Given the description of an element on the screen output the (x, y) to click on. 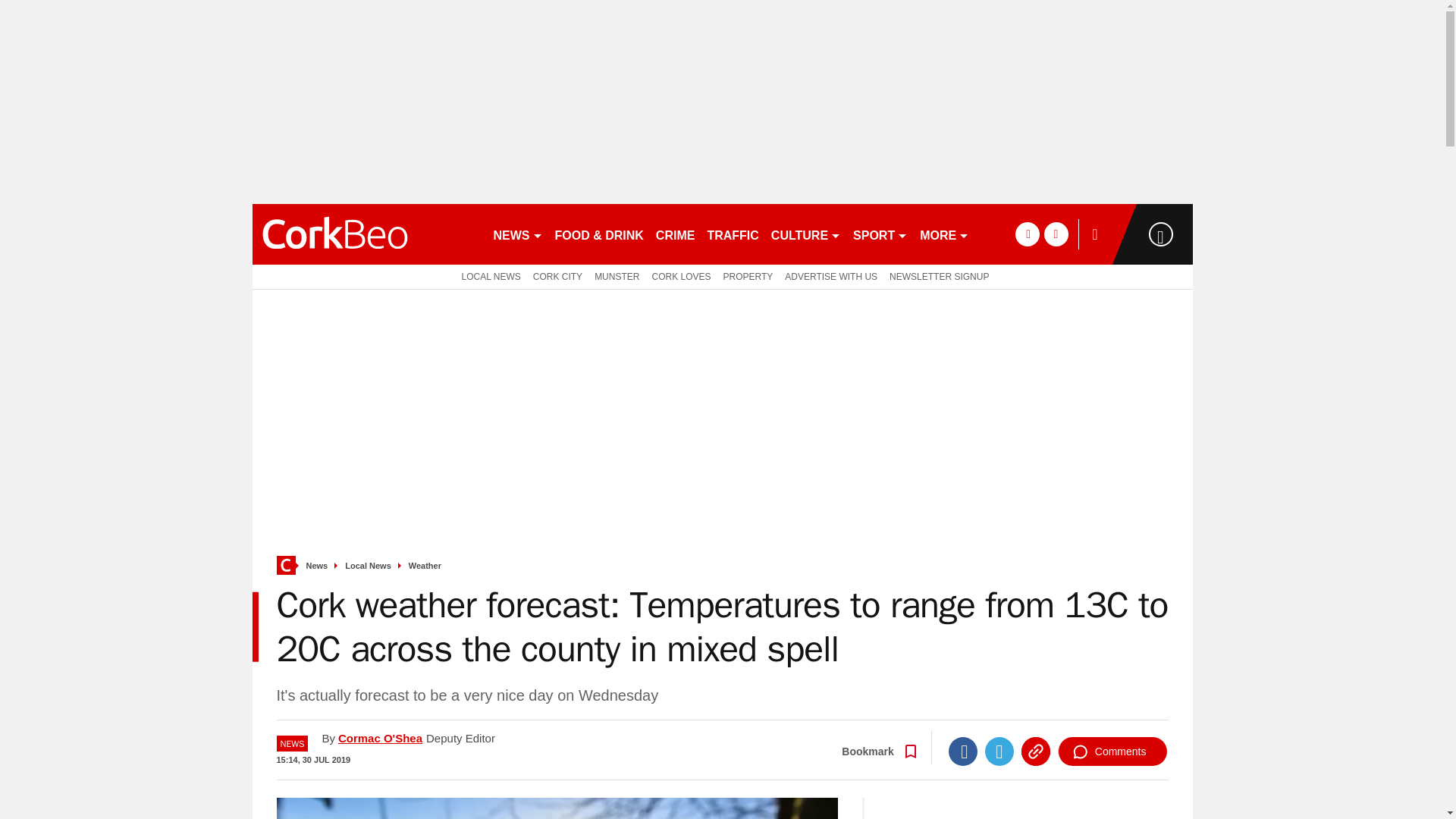
ADVERTISE WITH US (830, 275)
corklive (365, 233)
PROPERTY (747, 275)
CULTURE (806, 233)
TRAFFIC (732, 233)
twitter (1055, 233)
MUNSTER (616, 275)
CORK LOVES (680, 275)
Twitter (999, 751)
NEWS (517, 233)
